Given the description of an element on the screen output the (x, y) to click on. 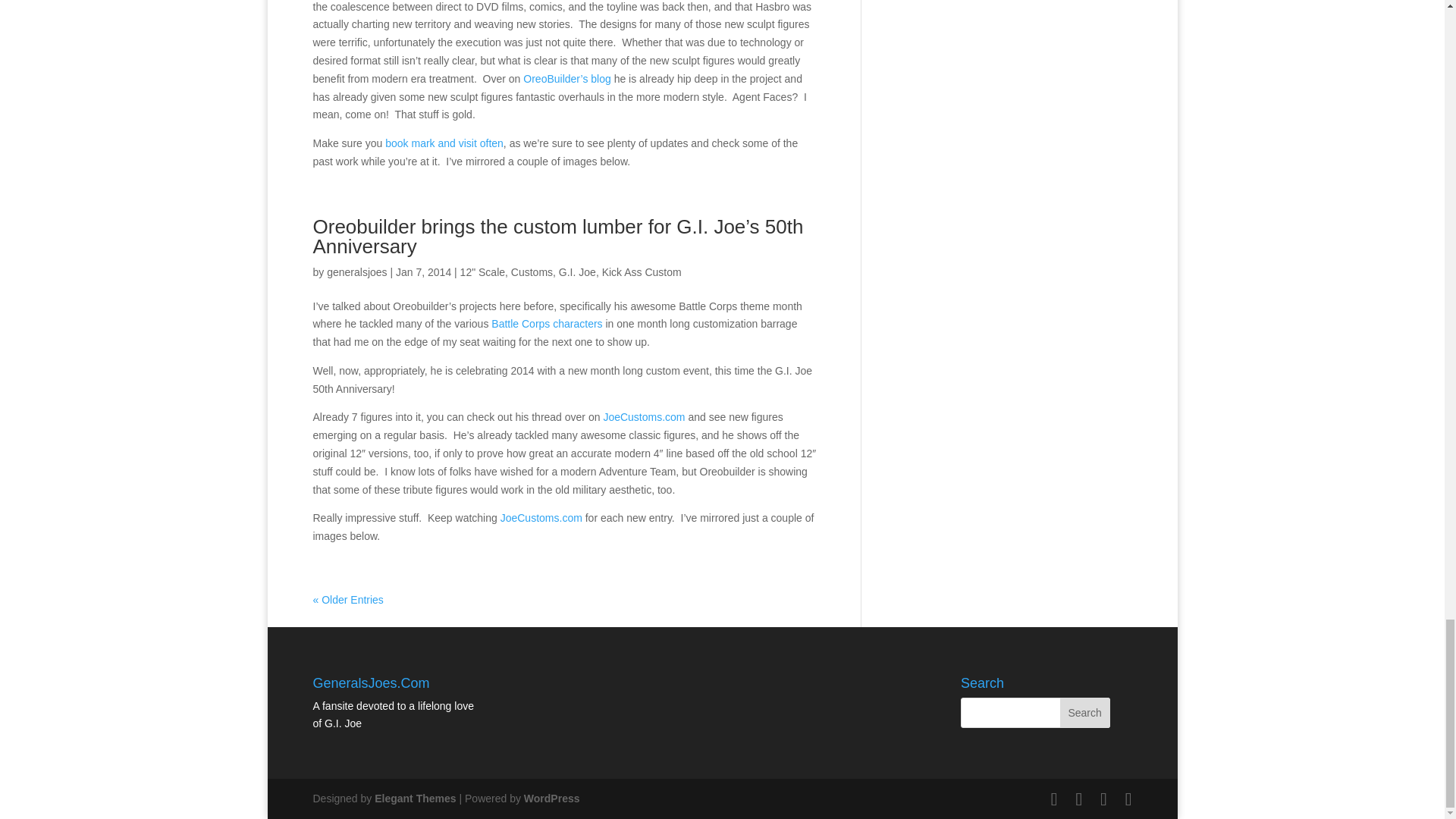
Posts by generalsjoes (356, 272)
Premium WordPress Themes (414, 798)
Search (1084, 712)
